Given the description of an element on the screen output the (x, y) to click on. 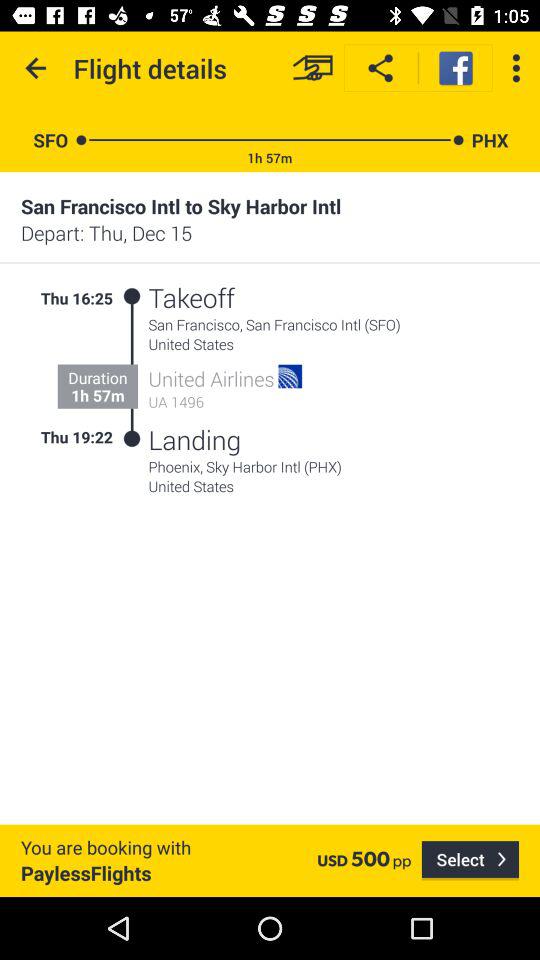
choose the item to the left of takeoff item (131, 295)
